Given the description of an element on the screen output the (x, y) to click on. 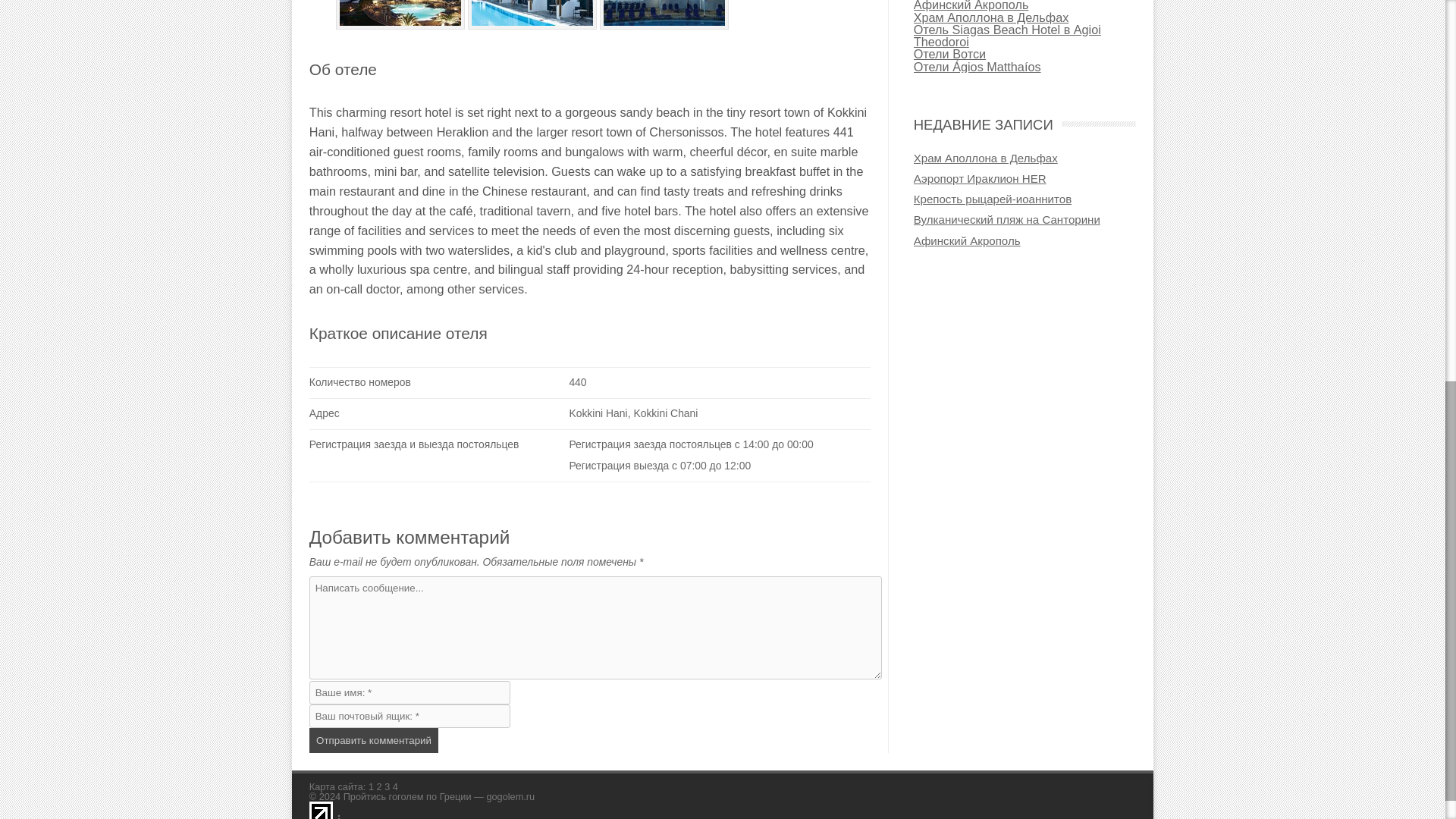
2 (379, 786)
3 (387, 786)
1 (371, 786)
4 (395, 786)
